Given the description of an element on the screen output the (x, y) to click on. 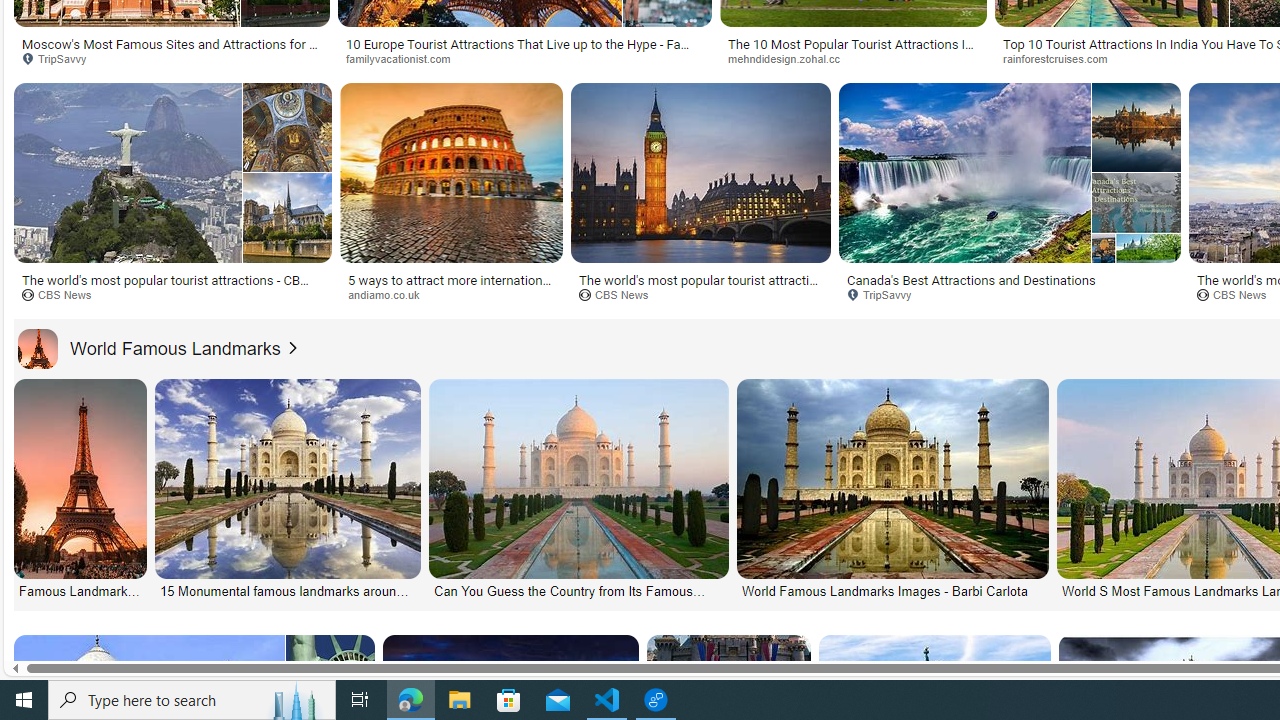
Famous Landmarks in the world Famous Landmarks in the world (80, 489)
familyvacationist.com (524, 58)
The 10 Most Popular Tourist Attractions In The World - ZOHAL (852, 50)
TripSavvy (886, 294)
Image result for World tourist attraction (1136, 217)
andiamo.co.uk (390, 294)
World Famous Landmarks (37, 348)
The world's most popular tourist attractions - CBS News (172, 286)
